Given the description of an element on the screen output the (x, y) to click on. 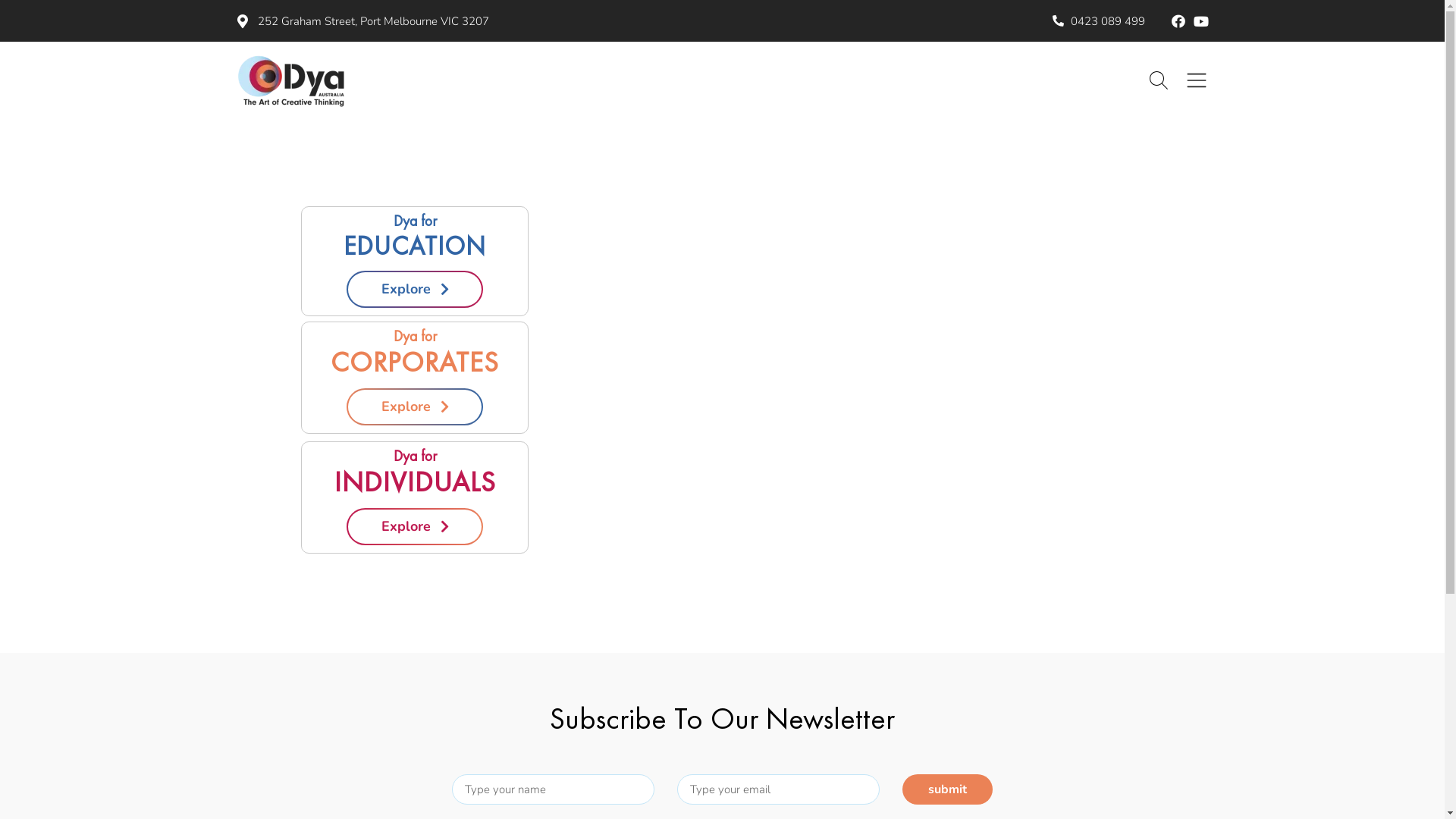
0423 089 499 Element type: text (1098, 21)
252 Graham Street, Port Melbourne VIC 3207 Element type: text (475, 21)
Explore Element type: text (414, 406)
submit Element type: text (947, 789)
Explore Element type: text (414, 288)
Explore Element type: text (414, 526)
